Given the description of an element on the screen output the (x, y) to click on. 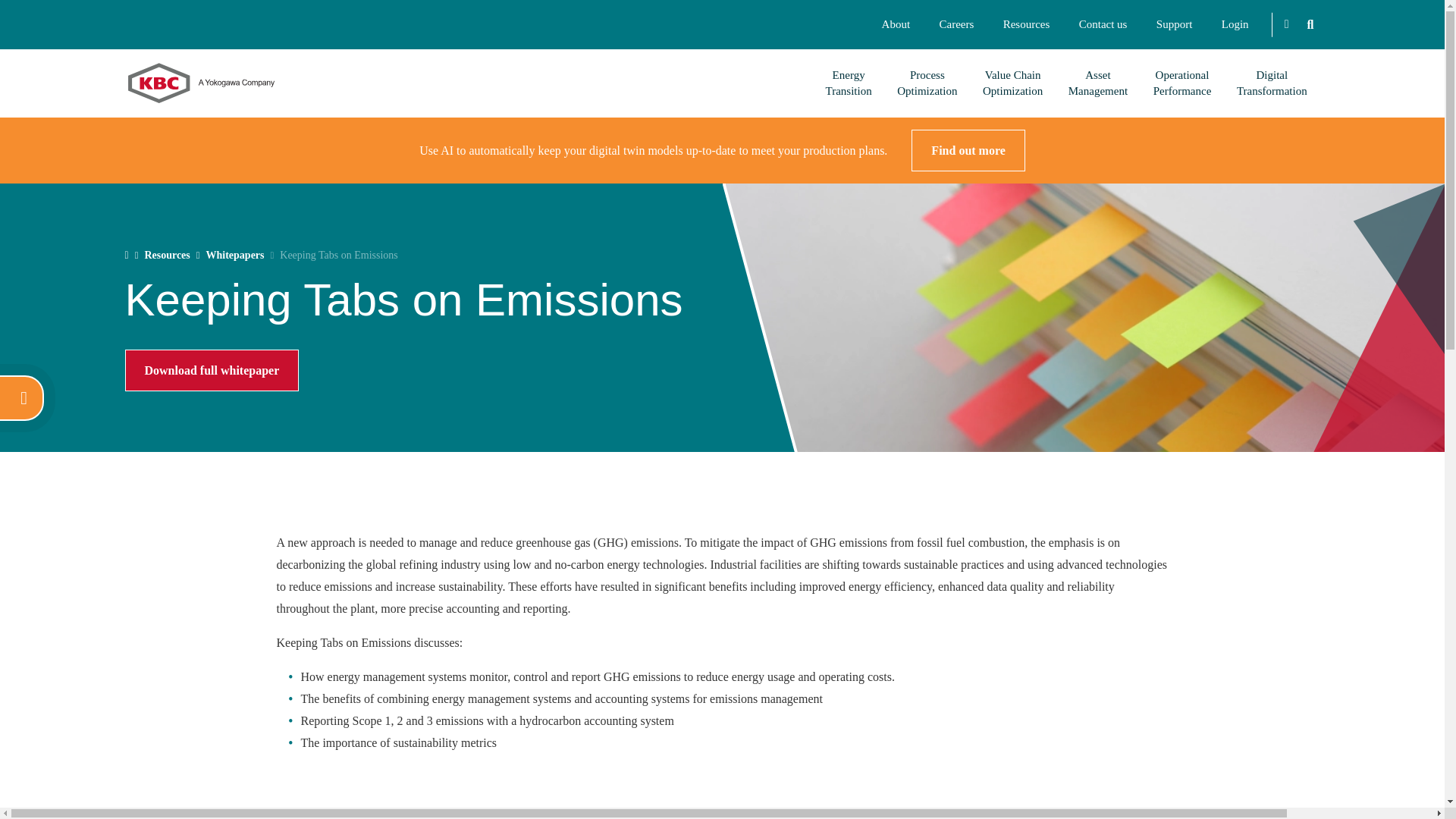
Careers (956, 24)
Login (1235, 24)
Support (1174, 24)
Contact us (1102, 24)
Resources (1026, 24)
About (895, 24)
Energy Transition (848, 83)
